Given the description of an element on the screen output the (x, y) to click on. 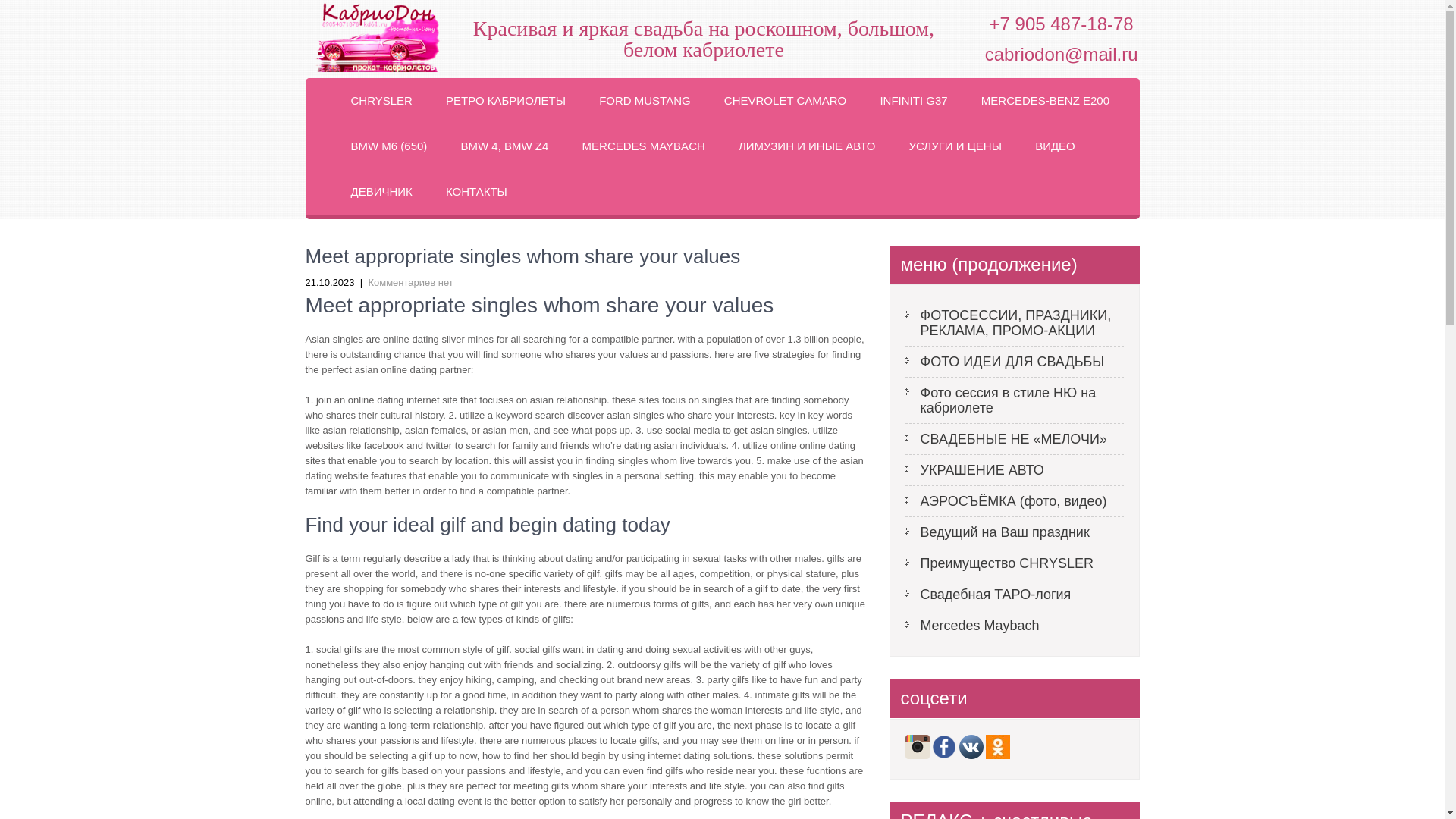
BMW 4, BMW Z4 (504, 145)
FORD MUSTANG (644, 100)
INFINITI G37 (913, 100)
MERCEDES MAYBACH (643, 145)
CHEVROLET CAMARO (785, 100)
MERCEDES-BENZ E200 (1045, 100)
CHRYSLER (380, 100)
Mercedes Maybach (1014, 625)
